Given the description of an element on the screen output the (x, y) to click on. 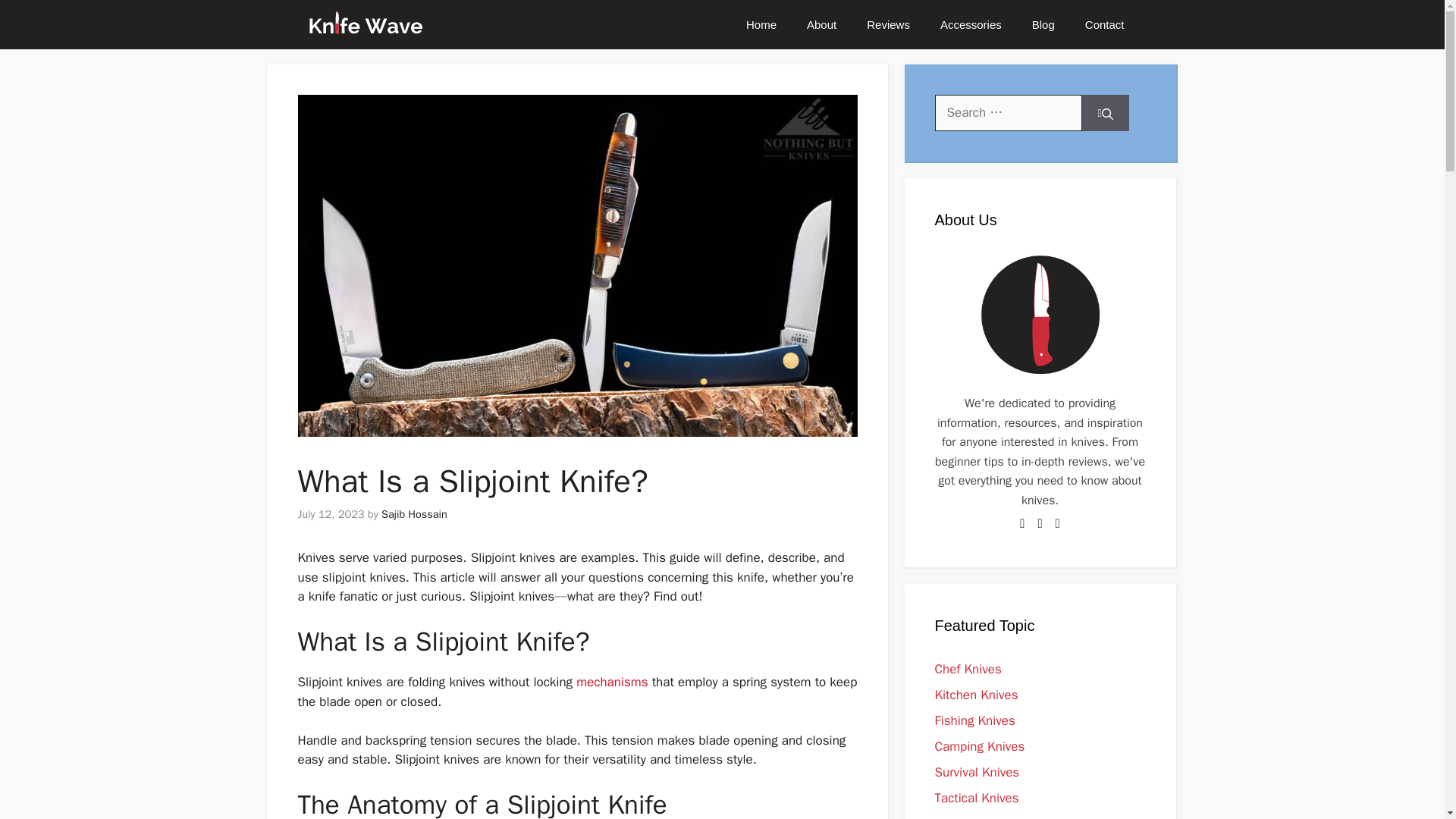
Search for: (1007, 113)
Knife Wave (364, 24)
Accessories (970, 23)
Reviews (887, 23)
Camping Knives (979, 746)
Home (761, 23)
About (821, 23)
Survival Knives (976, 772)
Sajib Hossain (413, 513)
Blog (1043, 23)
